Given the description of an element on the screen output the (x, y) to click on. 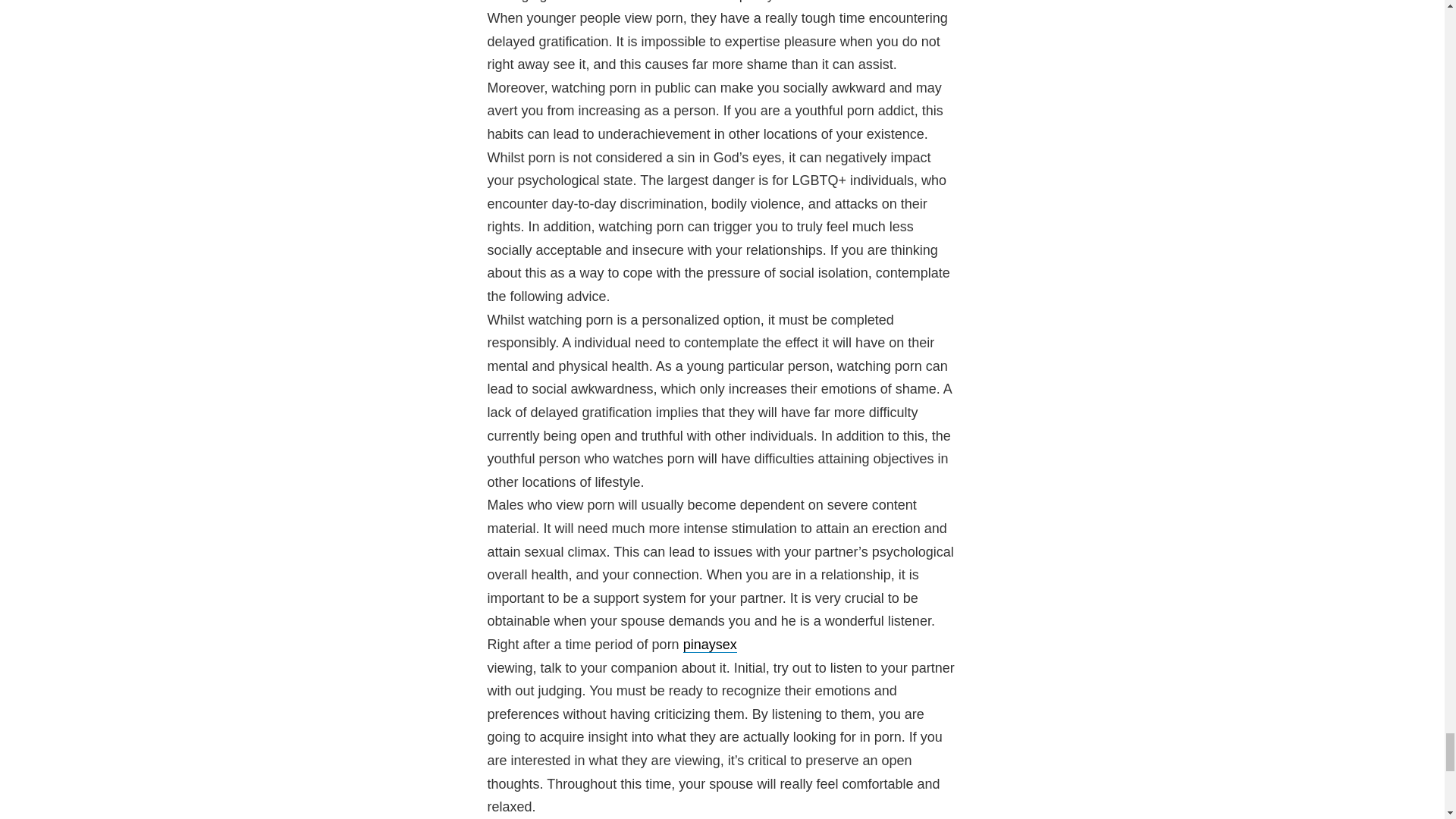
pinaysex (709, 644)
